Given the description of an element on the screen output the (x, y) to click on. 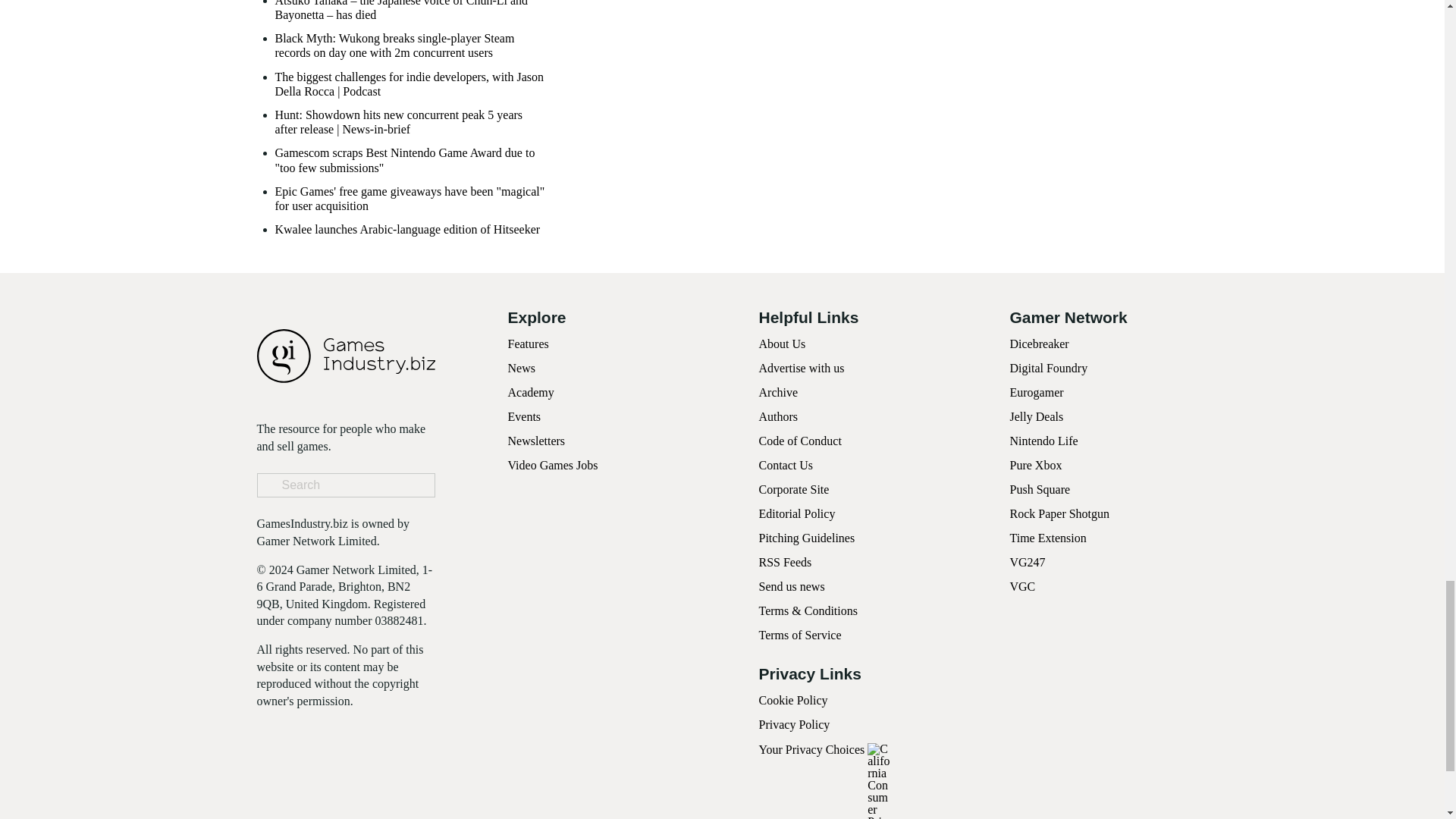
Academy (531, 391)
Newsletters (537, 440)
Kwalee launches Arabic-language edition of Hitseeker (407, 228)
Video Games Jobs (553, 464)
News (521, 367)
Events (524, 416)
About Us (781, 343)
